Given the description of an element on the screen output the (x, y) to click on. 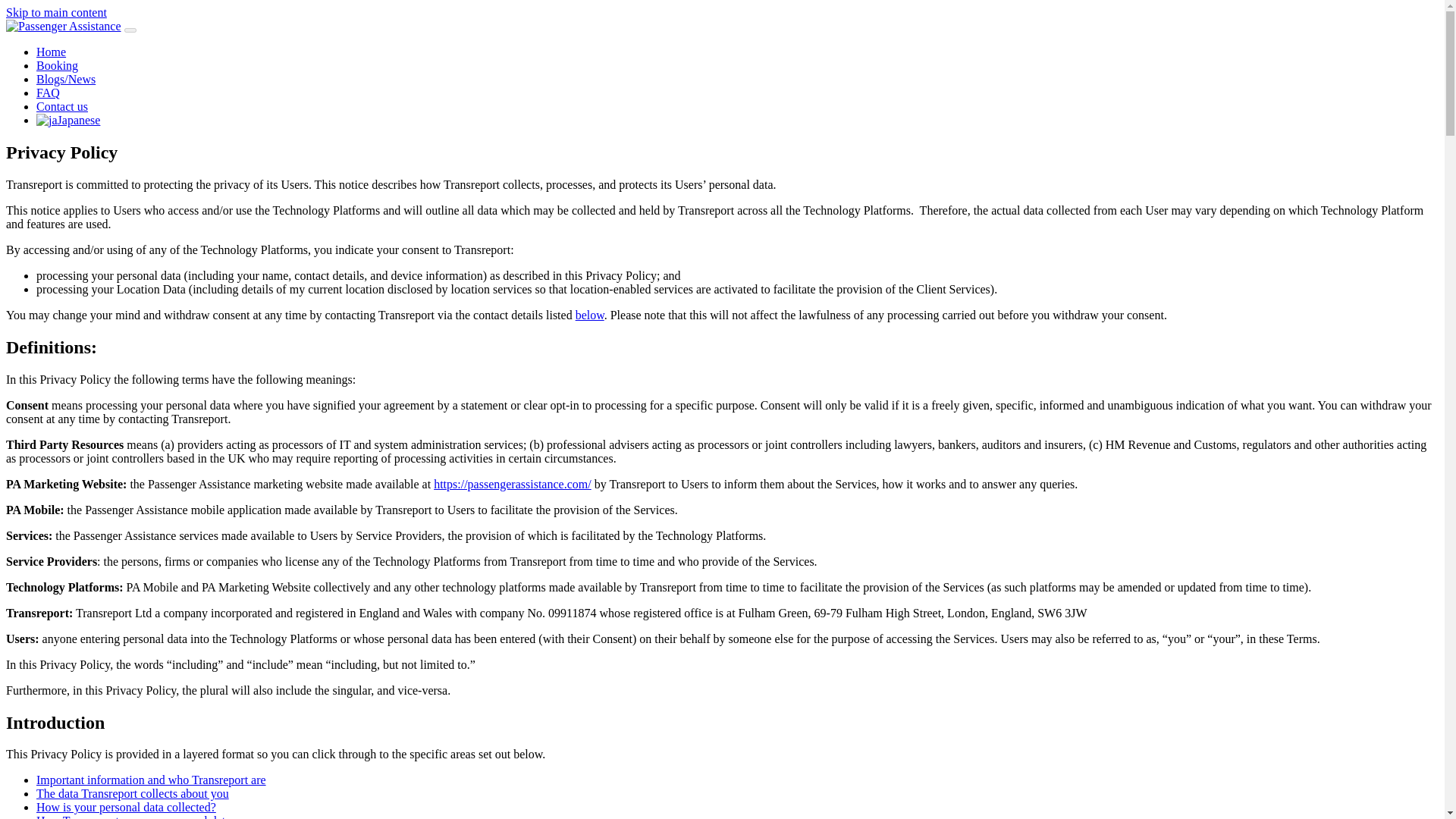
Important information and who Transreport are (151, 779)
FAQ (47, 92)
Skip to main content (55, 11)
Japanese (47, 120)
How is your personal data collected? (125, 807)
Home (50, 51)
below (589, 314)
How Transreport use your personal data (133, 816)
Contact us (61, 106)
Booking (57, 65)
